Given the description of an element on the screen output the (x, y) to click on. 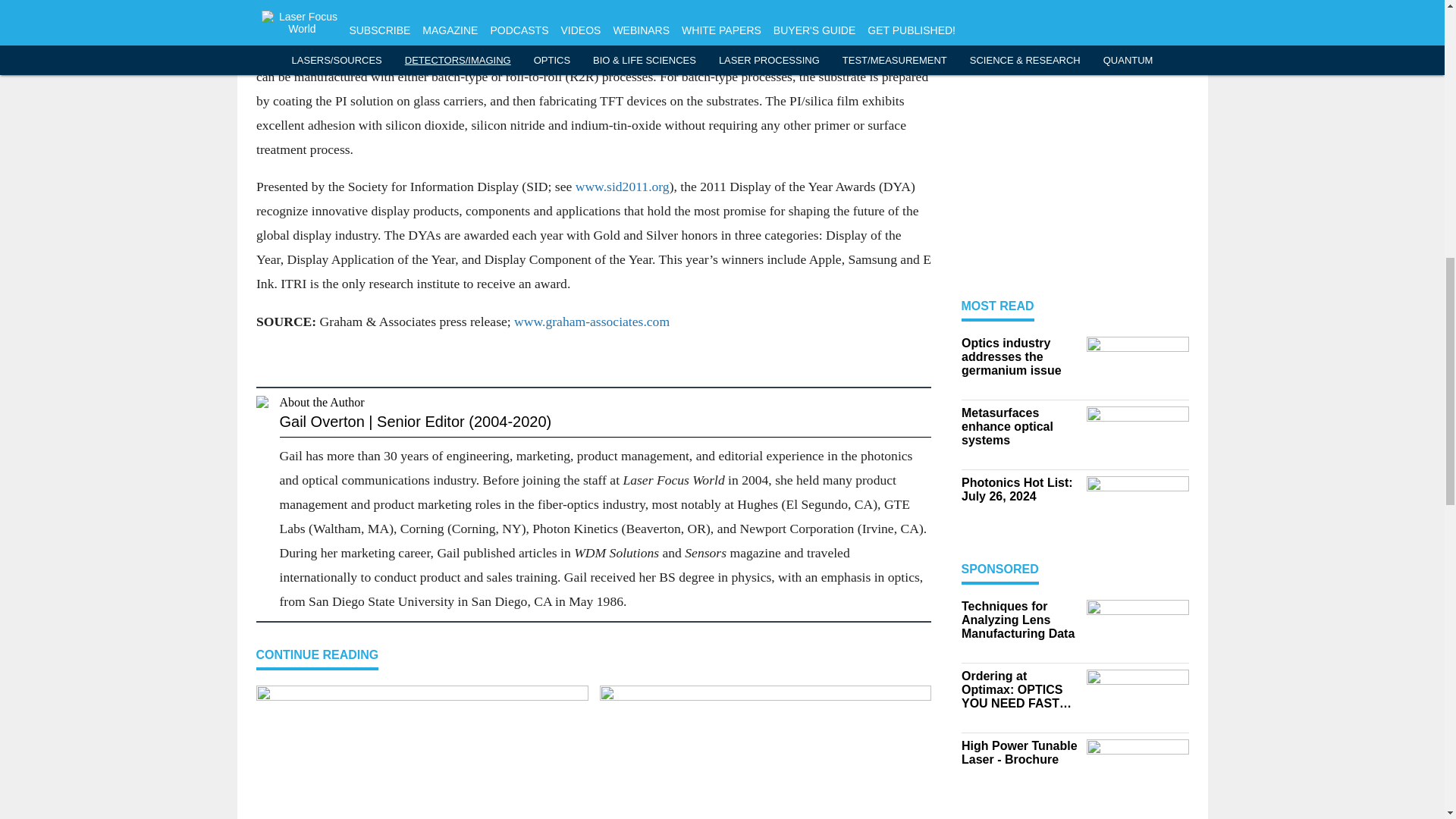
www.graham-associates.com (591, 321)
www.sid2011.org (621, 186)
